Given the description of an element on the screen output the (x, y) to click on. 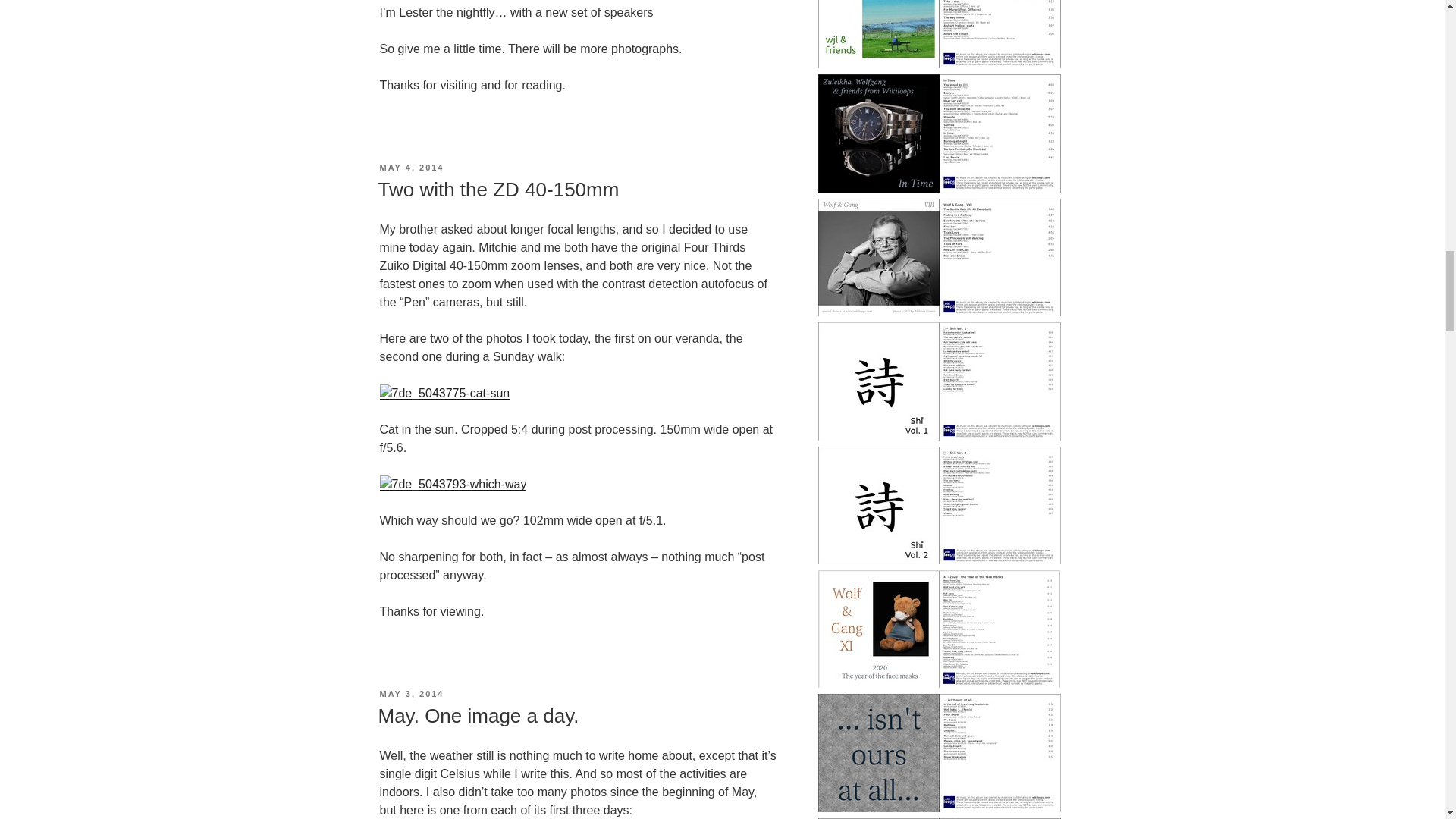
Two with the ZD 40-150mm (497, 189)
May. One image a day. (477, 715)
MAY 4, 2014 (411, 166)
MAY 3, 2014 (411, 693)
